Given the description of an element on the screen output the (x, y) to click on. 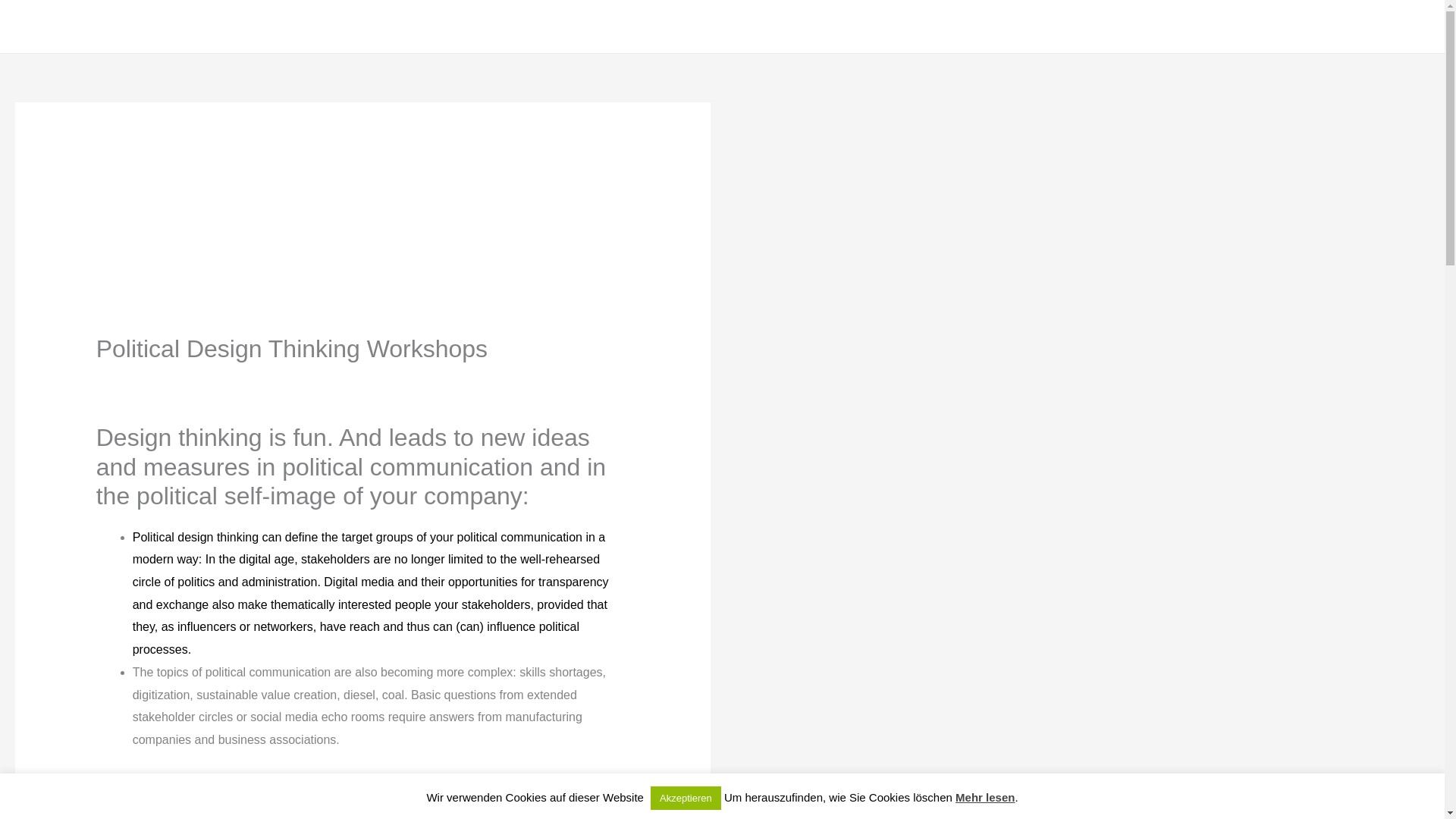
Mehr lesen (984, 797)
Akzeptieren (685, 797)
